Given the description of an element on the screen output the (x, y) to click on. 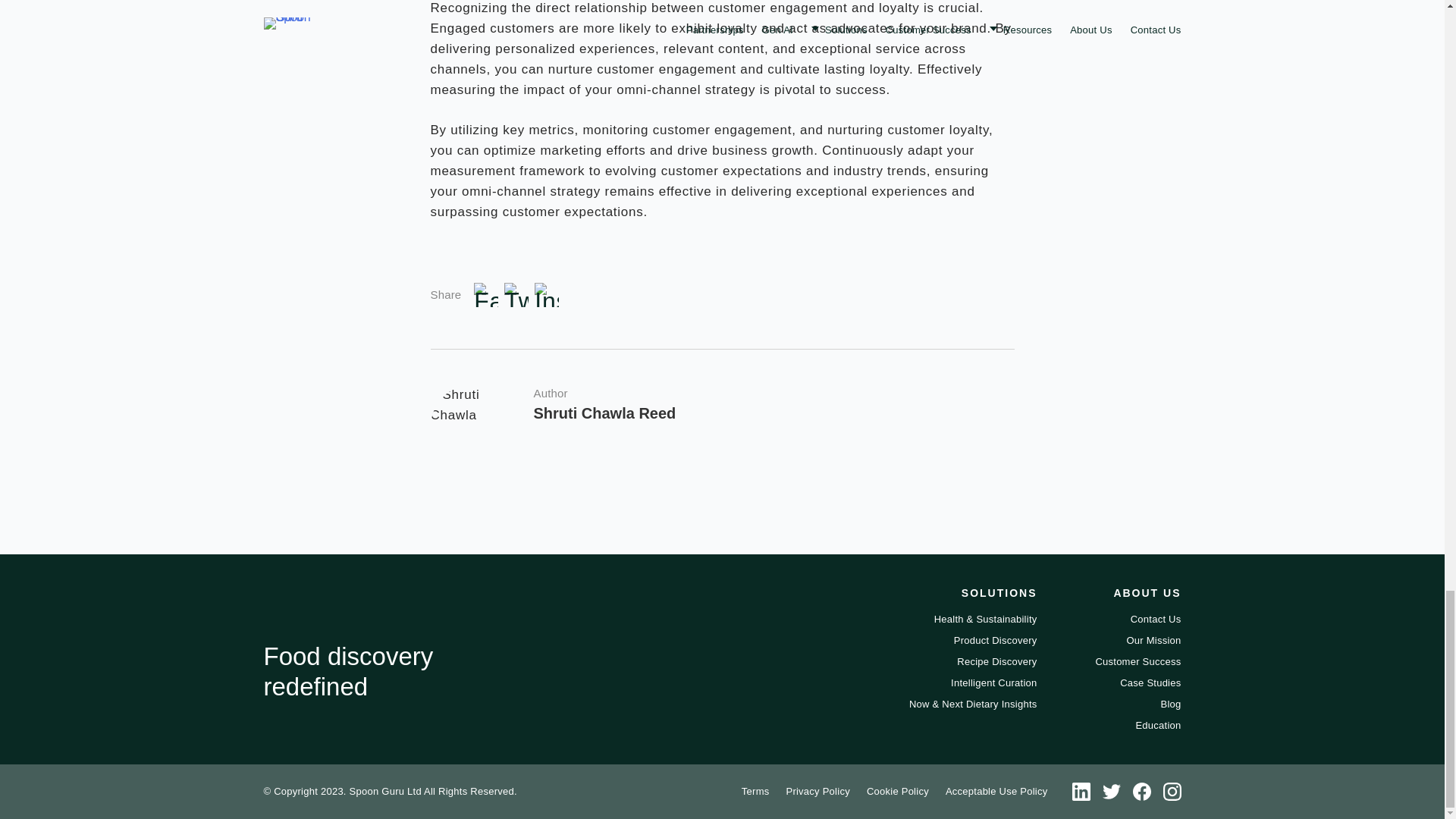
Instagram (546, 293)
Product Discovery (994, 639)
Twitter (515, 293)
Facebook (485, 293)
